Given the description of an element on the screen output the (x, y) to click on. 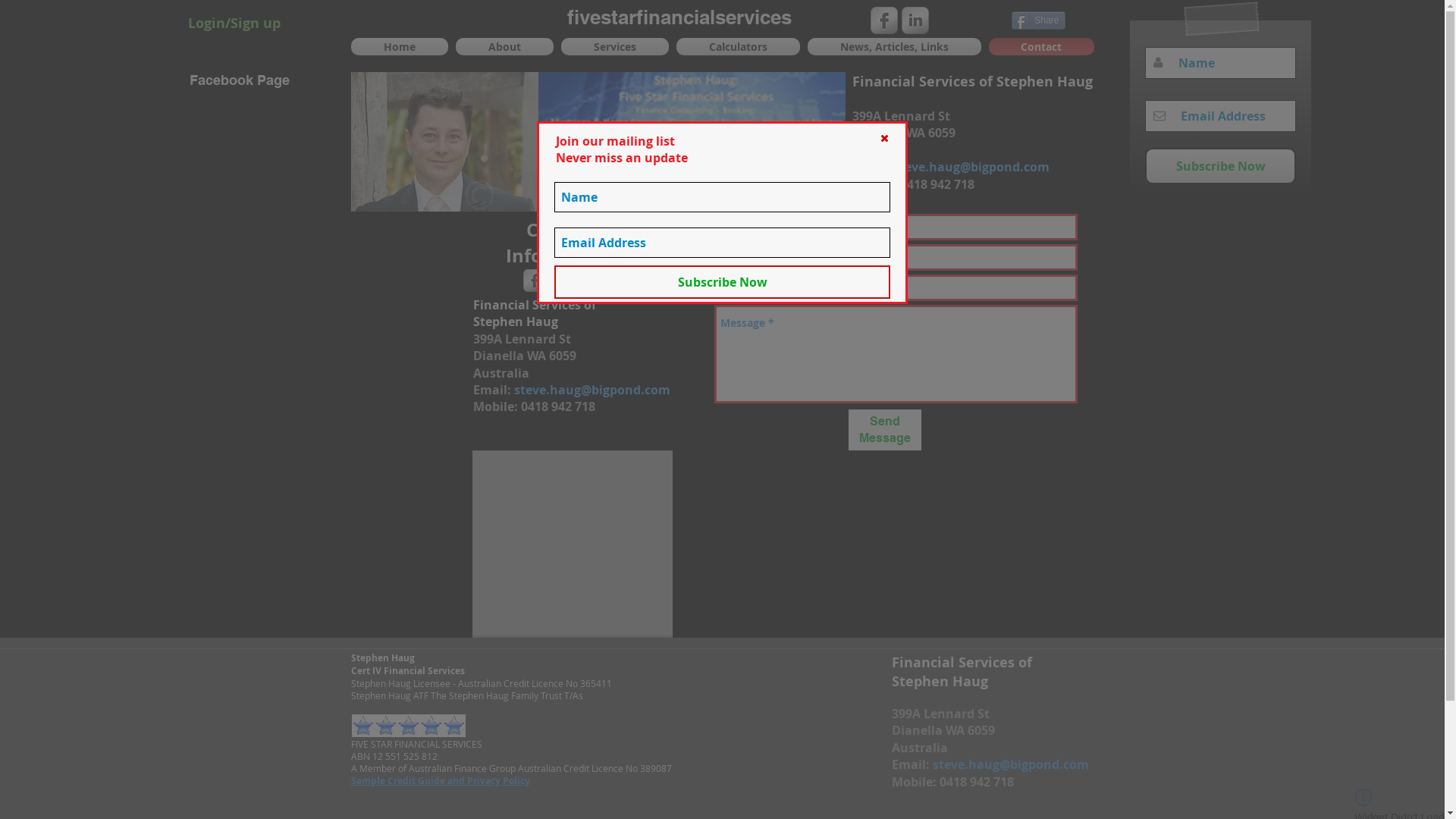
Australia Element type: text (919, 747)
399A Lennard St Element type: text (901, 115)
Calculators Element type: text (737, 46)
Home Element type: text (400, 46)
Dianella WA 6059 Element type: text (942, 729)
steve.haug@bigpond.com Element type: text (1010, 764)
Facebook Like Element type: hover (972, 18)
Contact Element type: text (1038, 46)
About Element type: text (504, 46)
Sample Credit Guide and Privacy Policy Element type: text (439, 780)
Email: Element type: text (911, 764)
399A Lennard St Element type: text (940, 713)
Stephen Haug Element type: text (382, 657)
Mobile: 0418 942 718 Element type: text (913, 183)
Email: Element type: text (872, 166)
steve.haug@bigpond.com Element type: text (971, 166)
Services Element type: text (613, 46)
Wix Get Subscribers Element type: hover (897, 527)
Dianella WA 6059 Element type: text (903, 132)
Mobile: 0418 942 718 Element type: text (952, 781)
steve.haug@bigpond.com Element type: text (592, 389)
Google Maps Element type: hover (572, 544)
Australia Element type: text (880, 149)
Cert IV Financial Services Element type: text (407, 670)
News, Articles, Links Element type: text (894, 46)
Share Element type: text (1038, 20)
Login/Sign up Element type: text (233, 22)
Modal Dialog Element type: hover (721, 409)
Wix Get Subscribers Element type: hover (1220, 96)
Send Message Element type: text (883, 429)
